Given the description of an element on the screen output the (x, y) to click on. 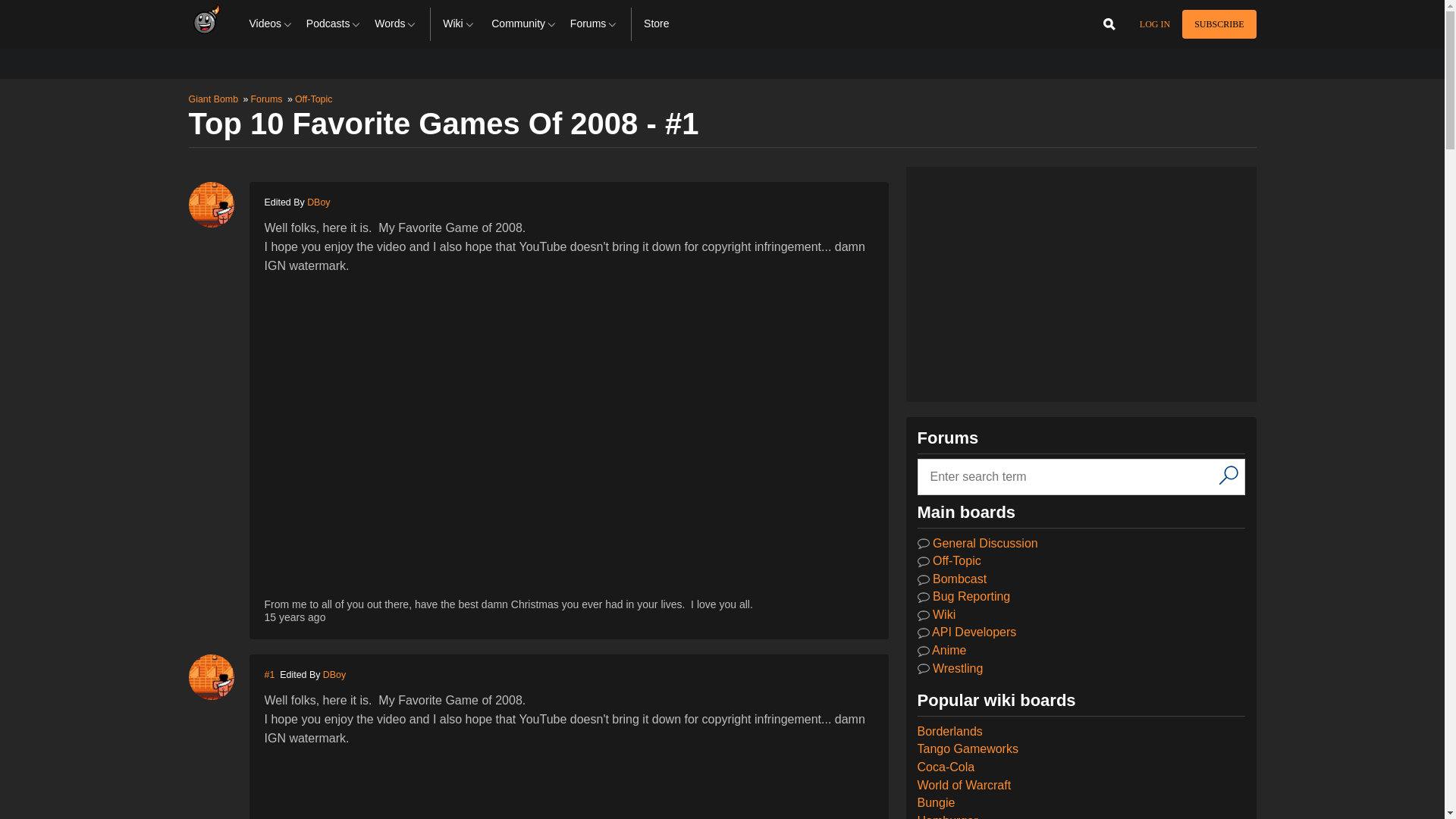
Videos (271, 24)
Words (395, 24)
Podcasts (333, 24)
Dec 23, 2008, 6:56pm (293, 616)
